Given the description of an element on the screen output the (x, y) to click on. 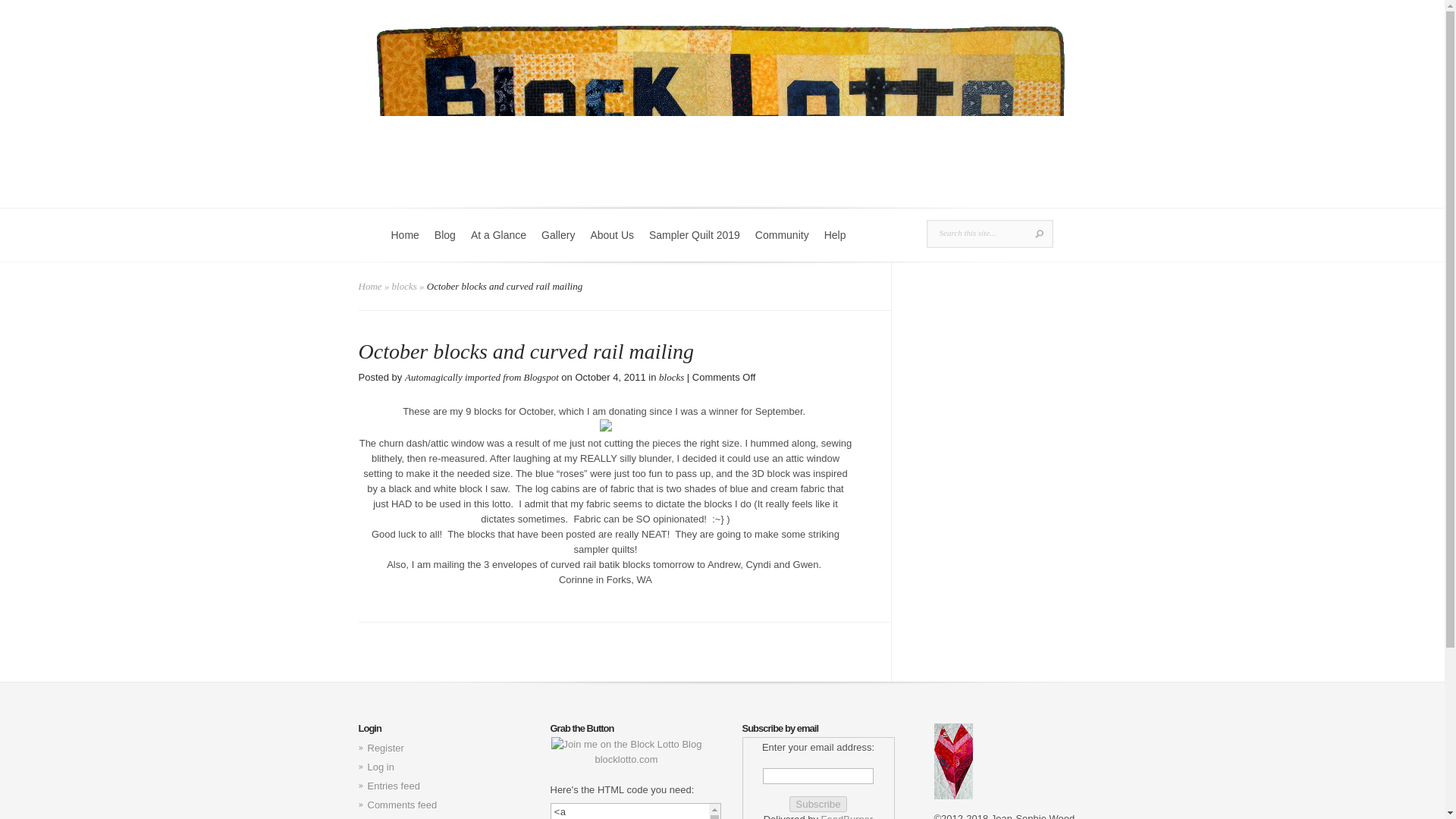
Comments feed (401, 804)
Posts by Automagically imported from Blogspot (481, 377)
Automagically imported from Blogspot (481, 377)
blocks (671, 377)
Entries feed (392, 785)
Home (405, 244)
Sampler Quilt 2019 (695, 244)
blocks (403, 285)
blocklotto.com (626, 751)
Help (834, 244)
